Given the description of an element on the screen output the (x, y) to click on. 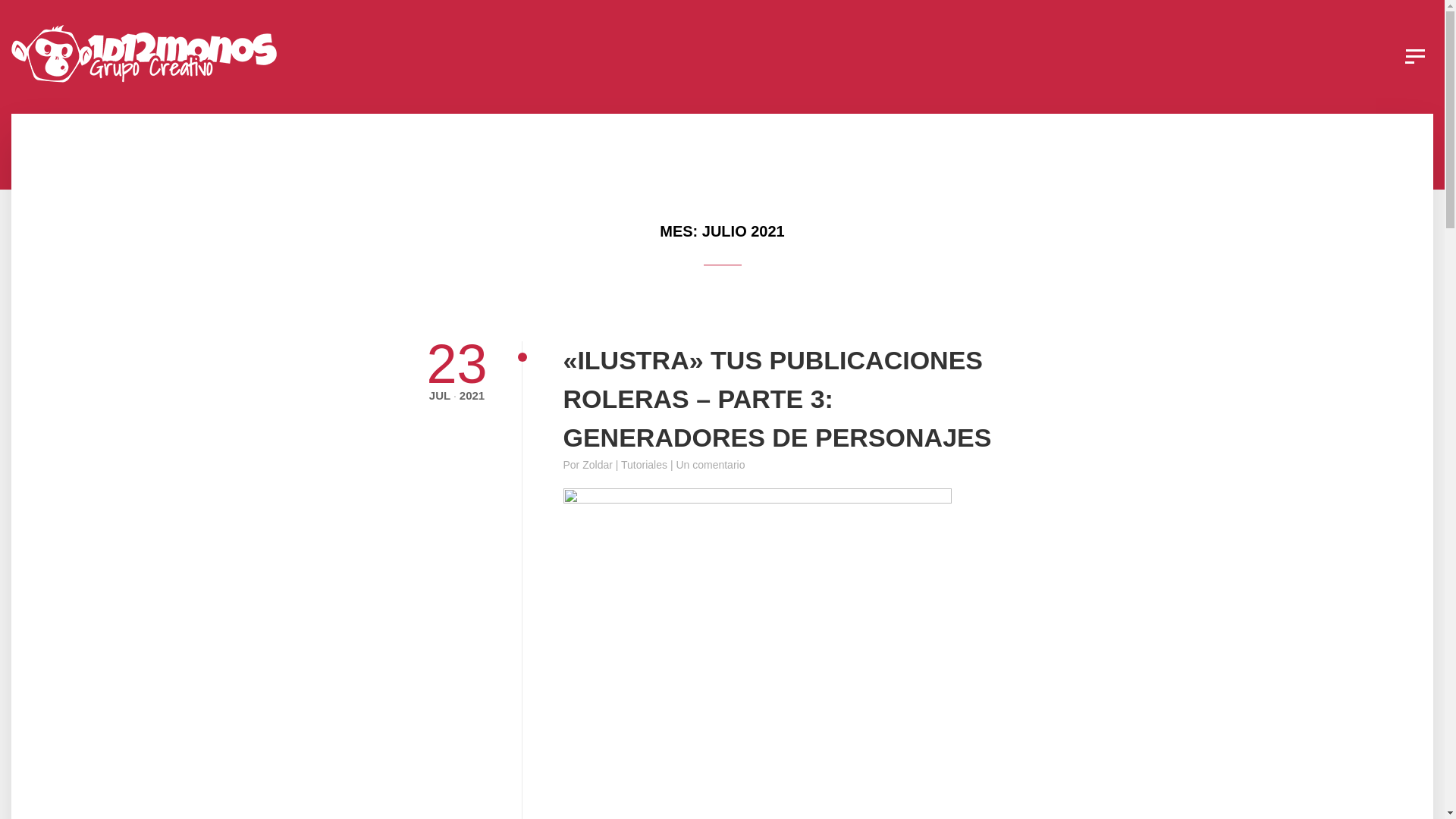
| Un comentario Element type: text (707, 464)
Tutoriales Element type: text (644, 464)
Zoldar Element type: text (597, 464)
